Given the description of an element on the screen output the (x, y) to click on. 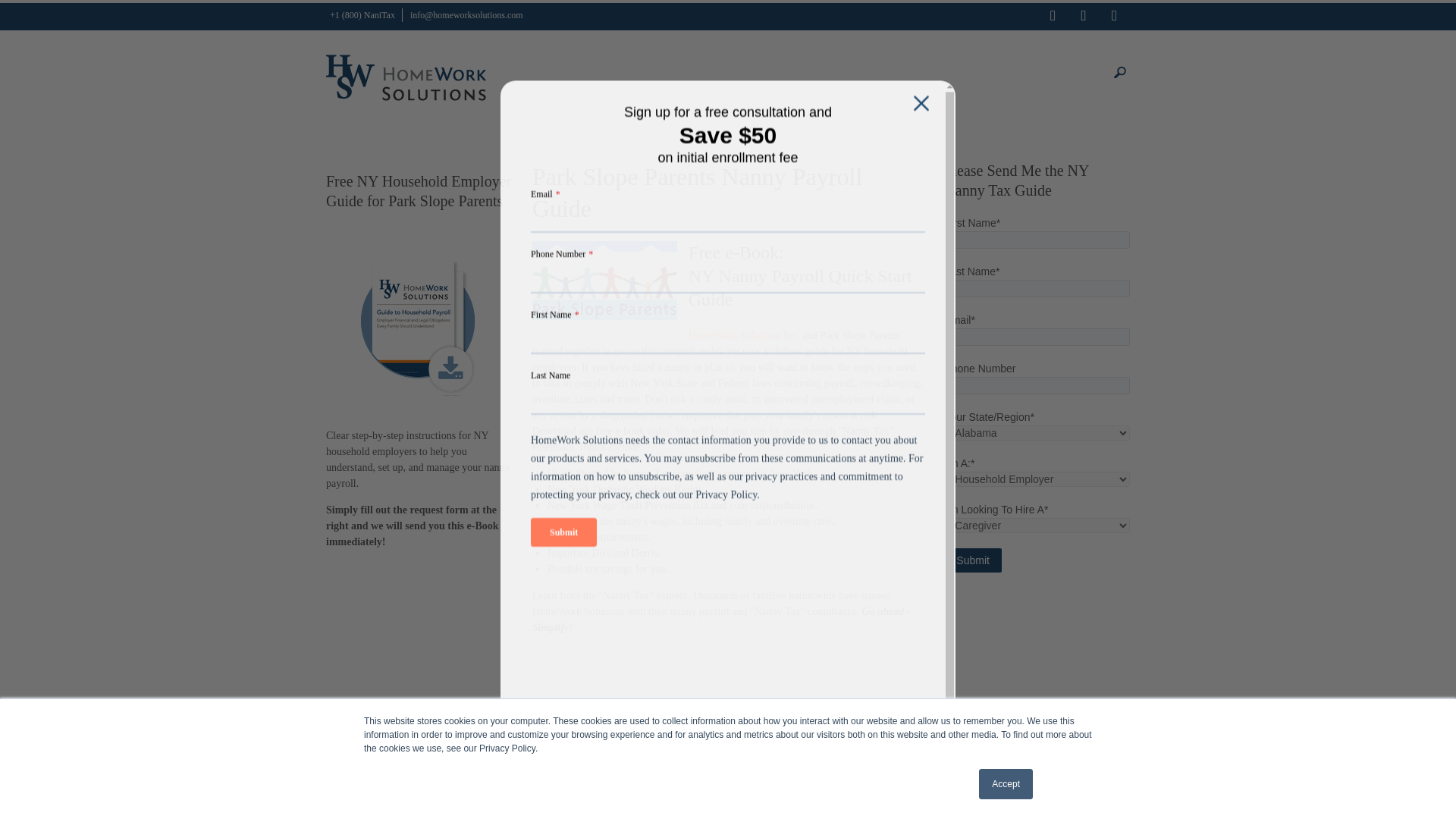
Accept (1005, 784)
Submit (972, 559)
